Given the description of an element on the screen output the (x, y) to click on. 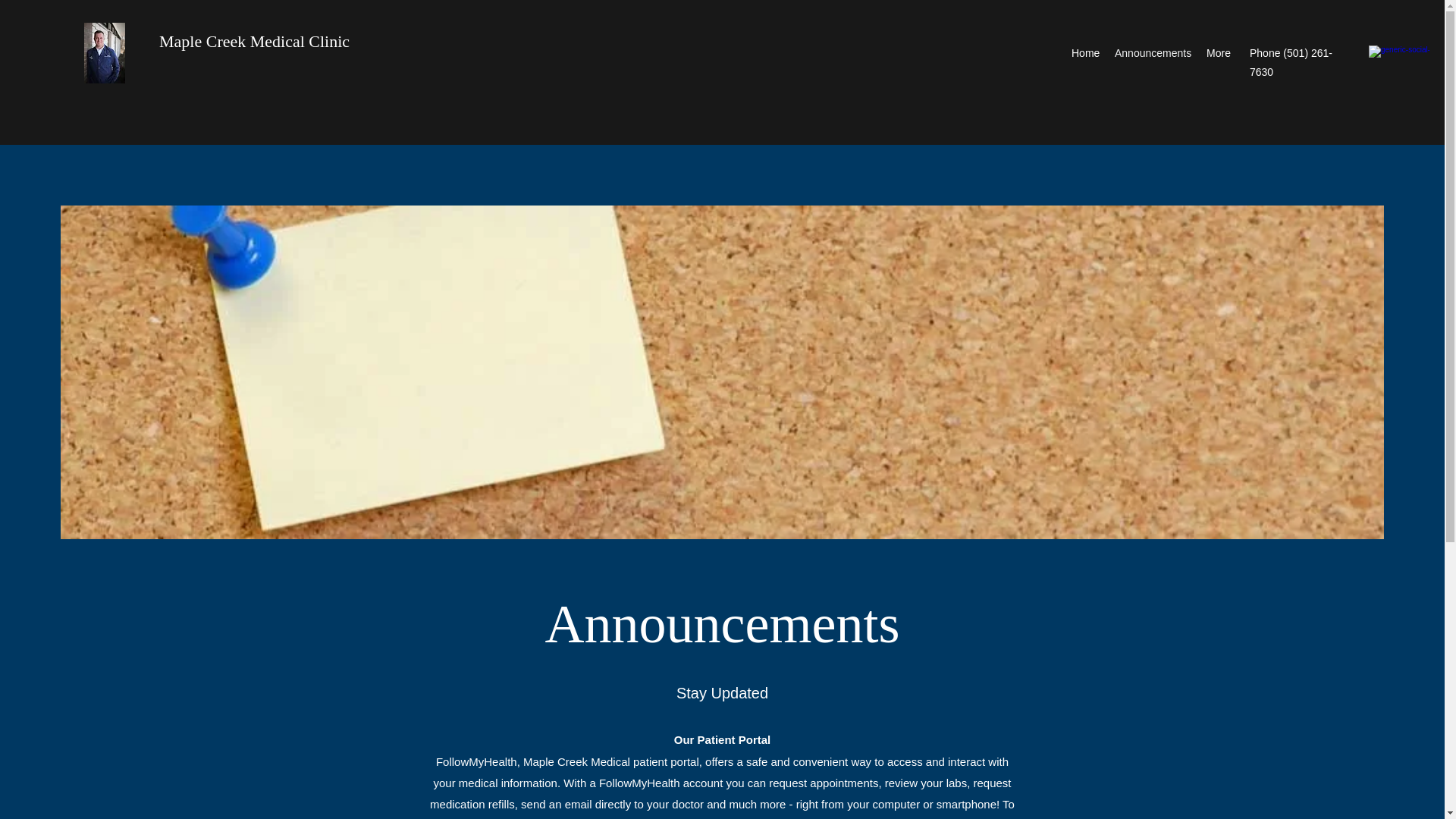
Announcements (1152, 52)
Maple Creek Medical Clinic (253, 40)
Home (1085, 52)
